Given the description of an element on the screen output the (x, y) to click on. 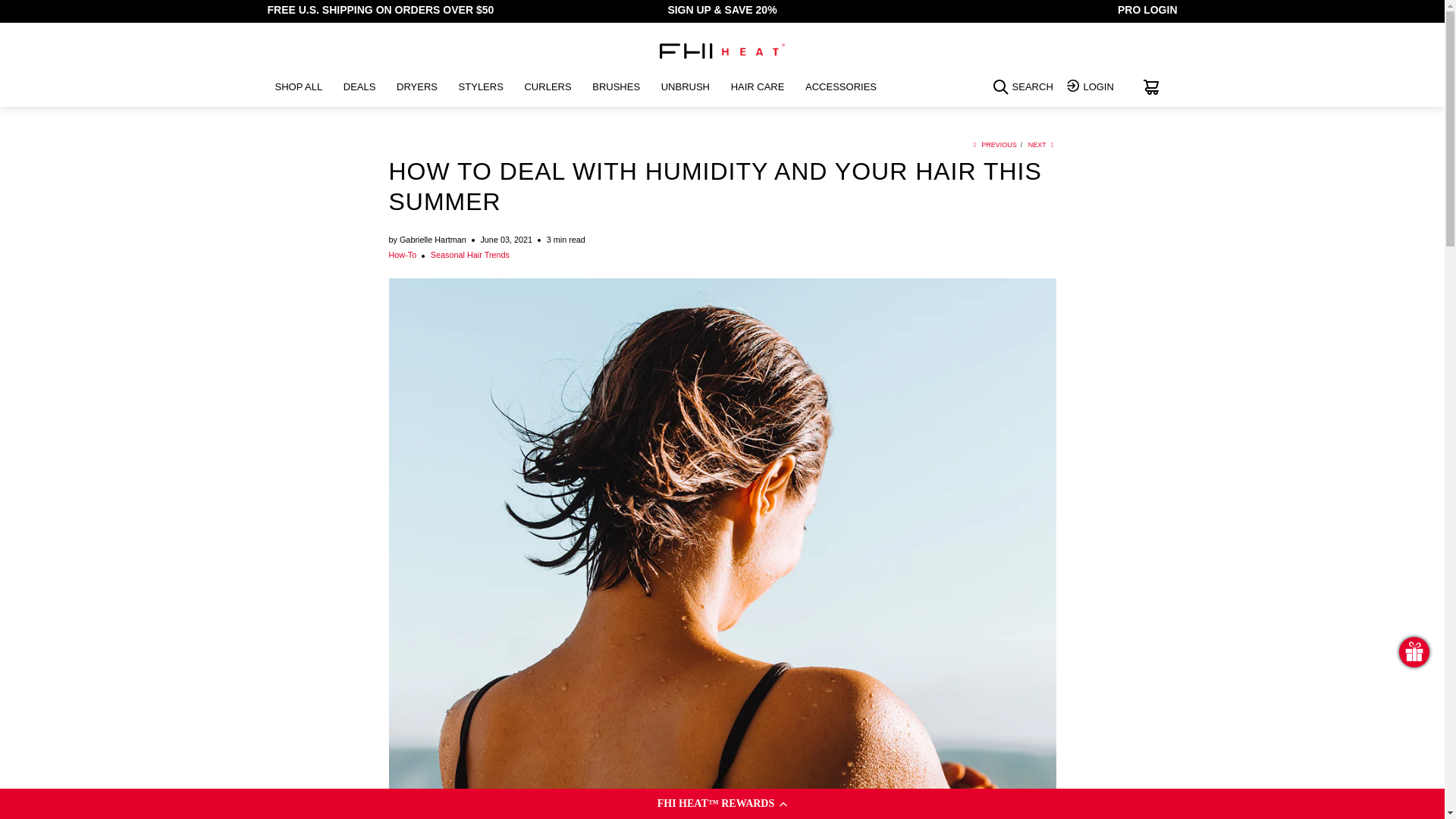
Journal tagged Seasonal Hair Trends (469, 254)
Journal tagged How-To (402, 254)
My Account  (1091, 88)
Search (1024, 89)
